Given the description of an element on the screen output the (x, y) to click on. 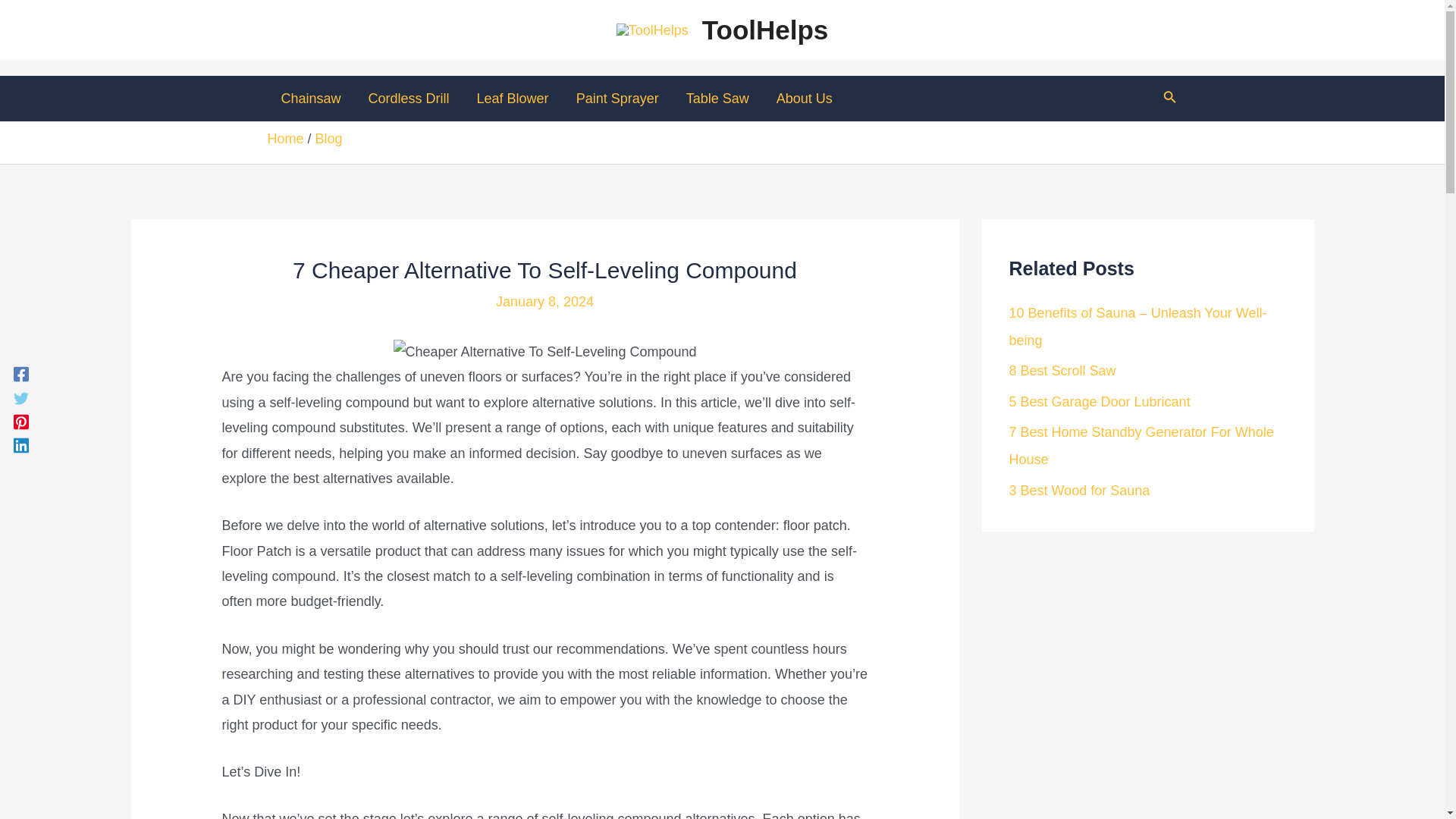
About Us (803, 98)
Blog (328, 138)
Cheaper Alternative To Self-Leveling Compound (544, 351)
Chainsaw (309, 98)
Paint Sprayer (617, 98)
ToolHelps (764, 30)
Cordless Drill (409, 98)
Home (284, 138)
Leaf Blower (512, 98)
Table Saw (717, 98)
